Given the description of an element on the screen output the (x, y) to click on. 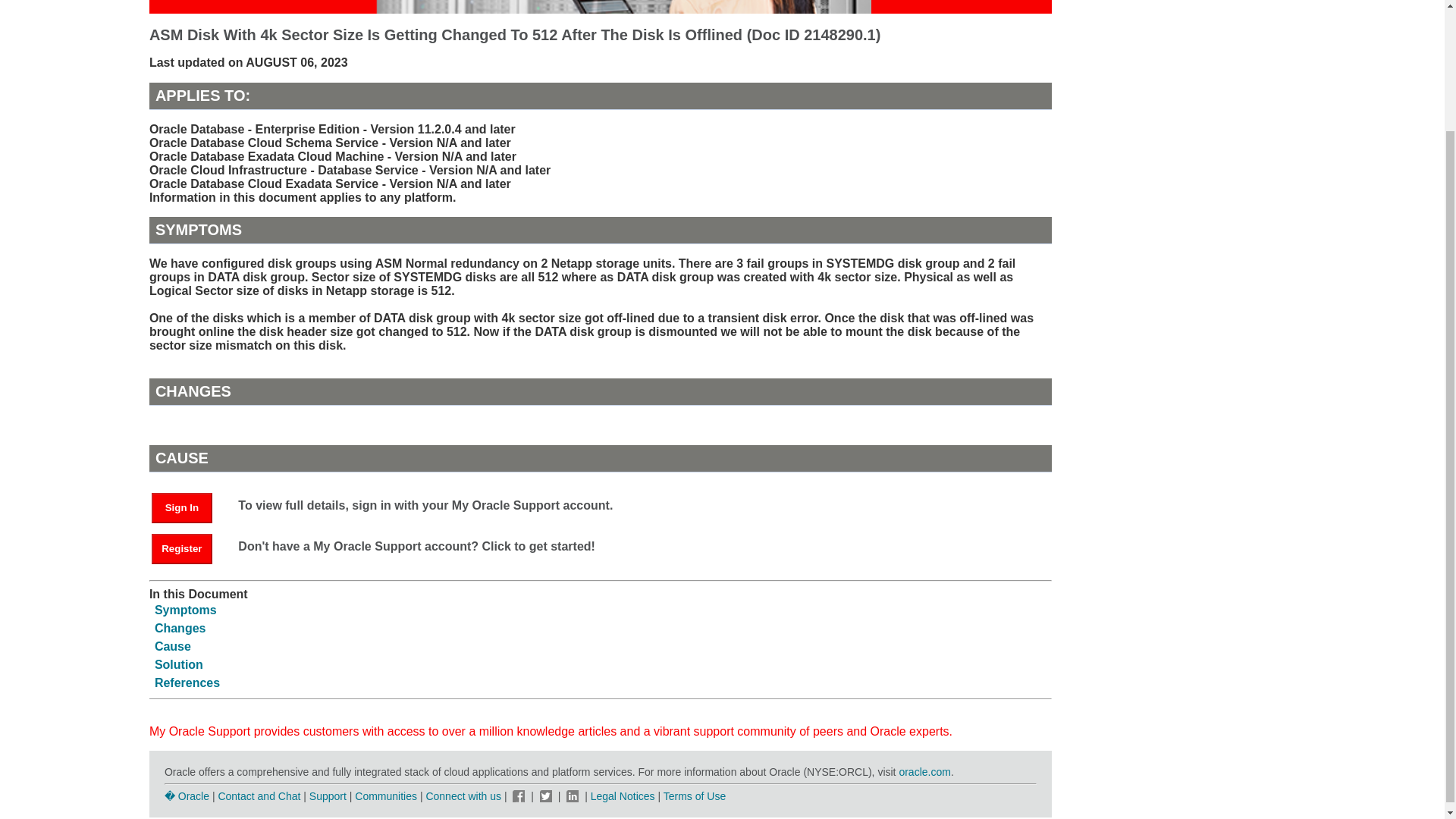
Symptoms (185, 609)
oracle.com (924, 771)
Sign In (181, 508)
Changes (180, 627)
Terms of Use (694, 796)
Solution (178, 664)
oracle.com (924, 771)
References (186, 682)
Cause (172, 645)
Register (181, 548)
